Given the description of an element on the screen output the (x, y) to click on. 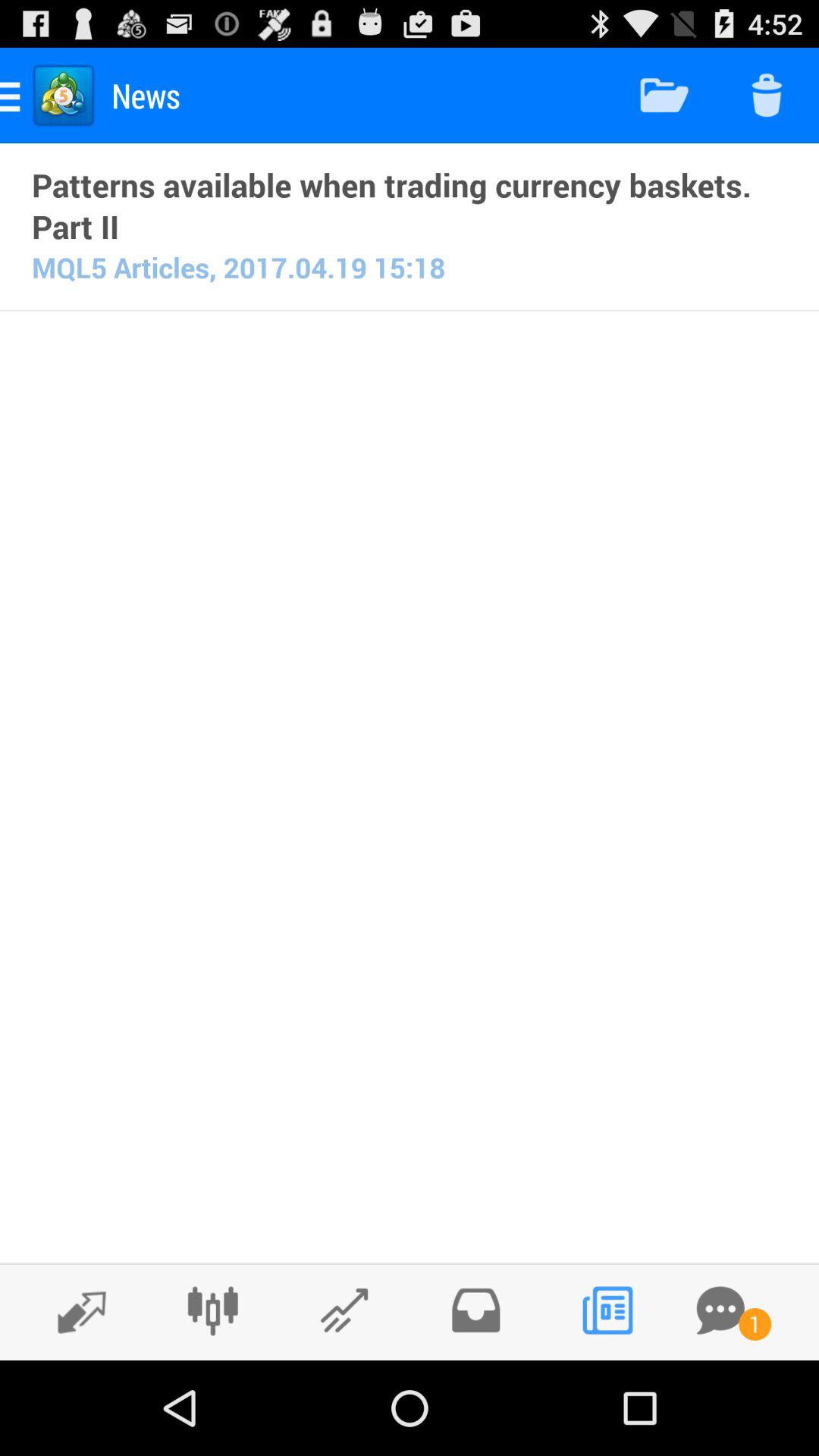
go to directions (73, 1311)
